Given the description of an element on the screen output the (x, y) to click on. 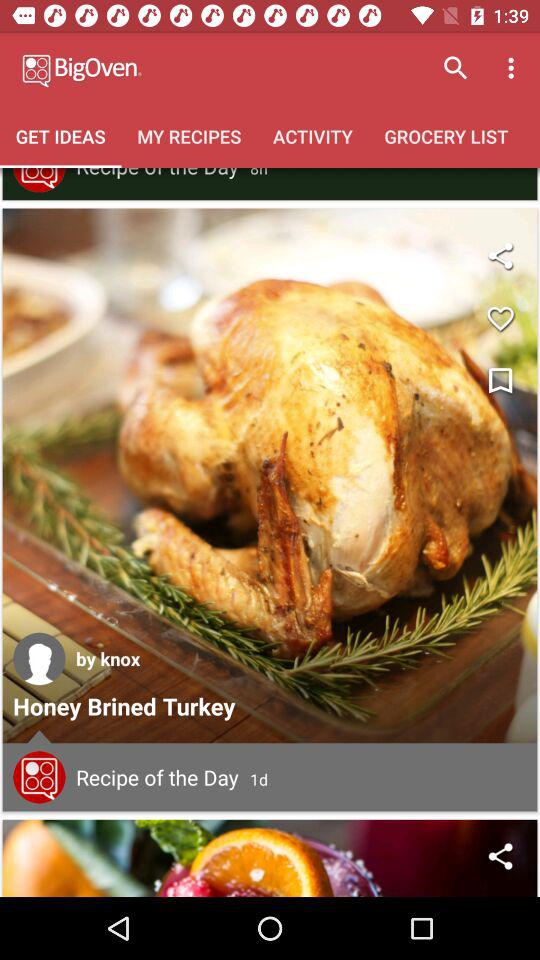
share recipe link (500, 856)
